Given the description of an element on the screen output the (x, y) to click on. 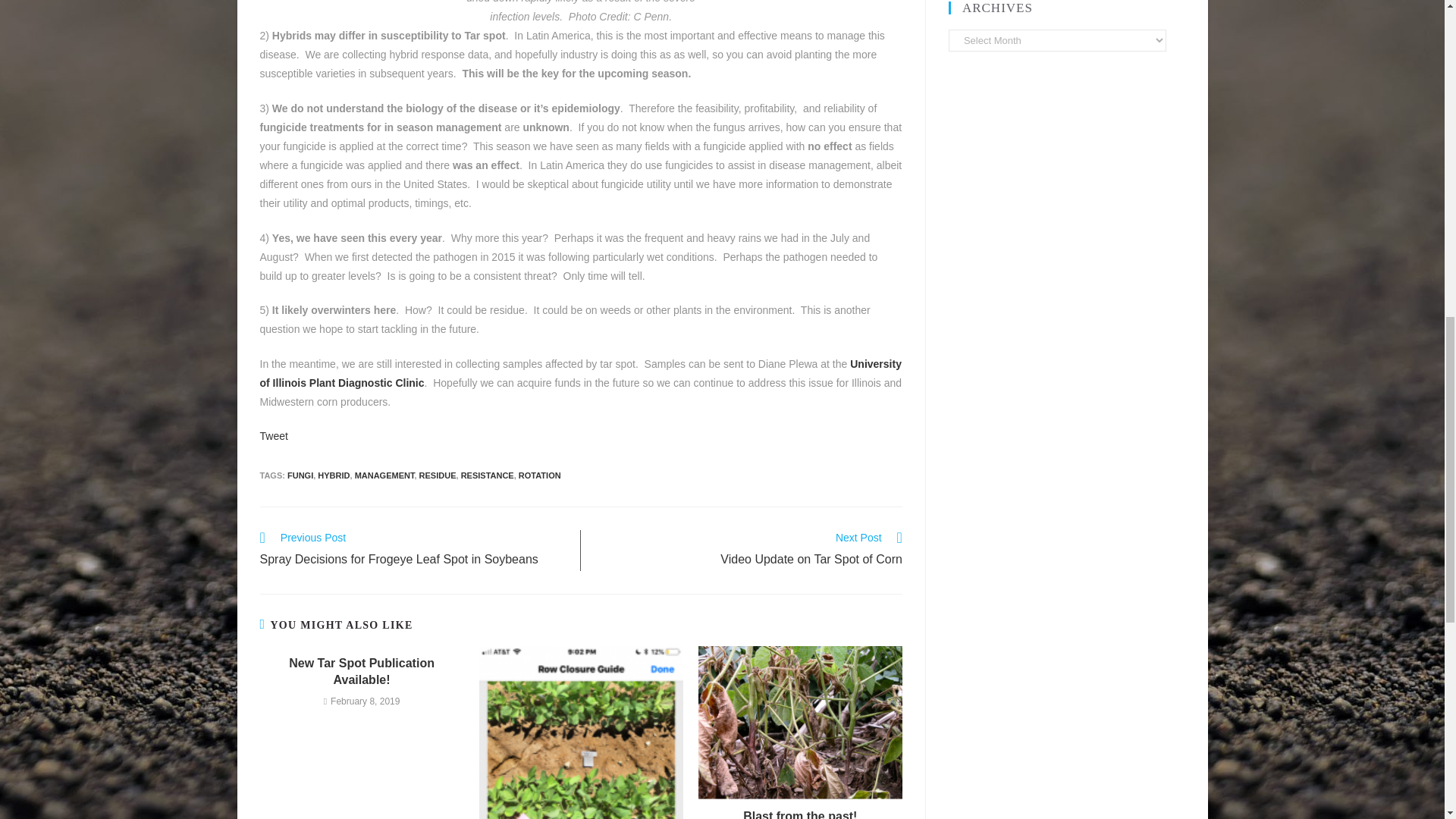
Tweet (272, 435)
New Tar Spot Publication Available! (360, 672)
New Tar Spot Publication Available! (360, 672)
MANAGEMENT (384, 474)
RESISTANCE (748, 549)
FUNGI (487, 474)
RESIDUE (299, 474)
Blast from the past! (438, 474)
ROTATION (800, 813)
HYBRID (539, 474)
Blast from the past! (333, 474)
University of Illinois Plant Diagnostic Clinic (800, 813)
